Given the description of an element on the screen output the (x, y) to click on. 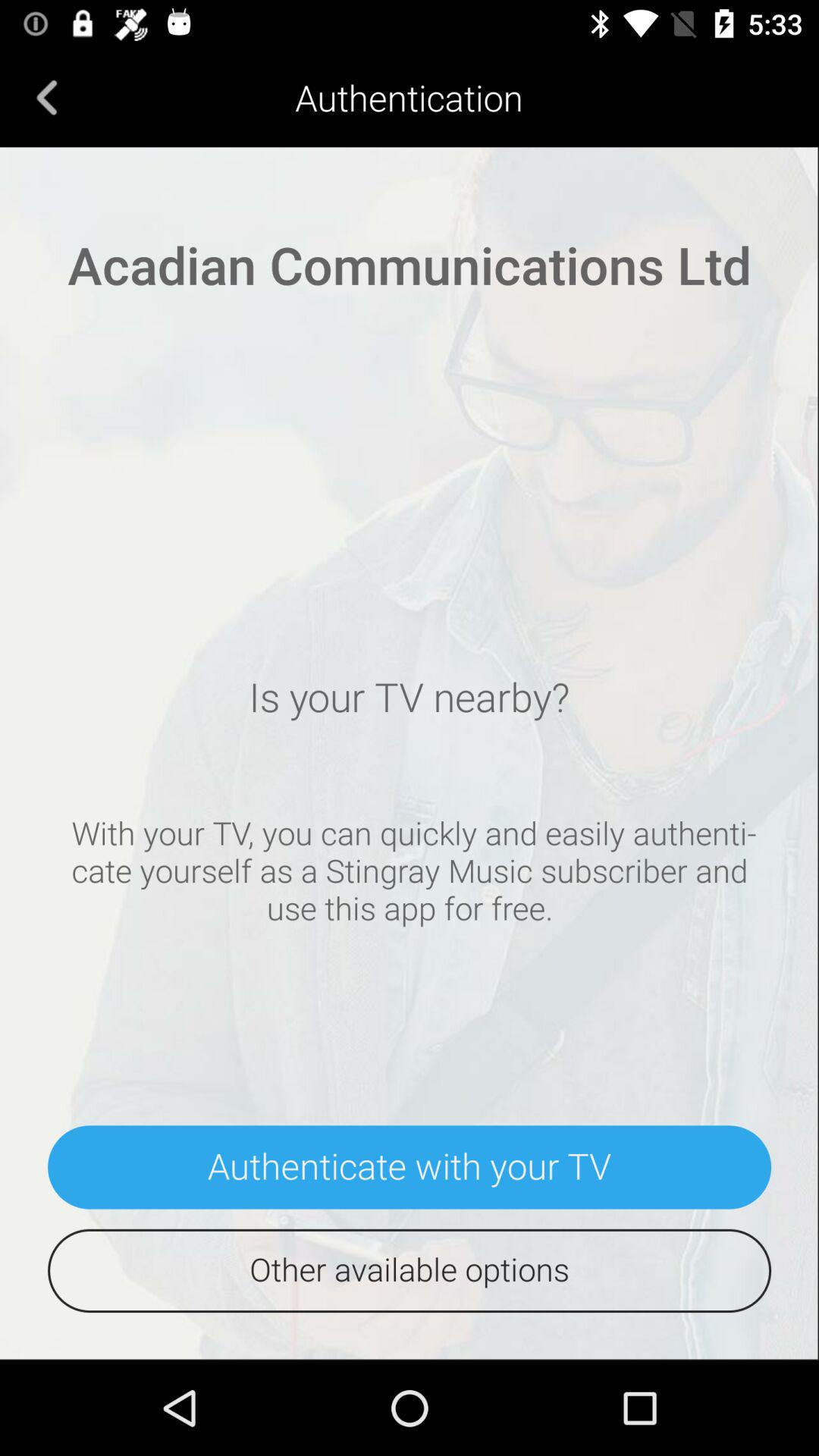
tap icon to the left of the authentication icon (47, 97)
